Given the description of an element on the screen output the (x, y) to click on. 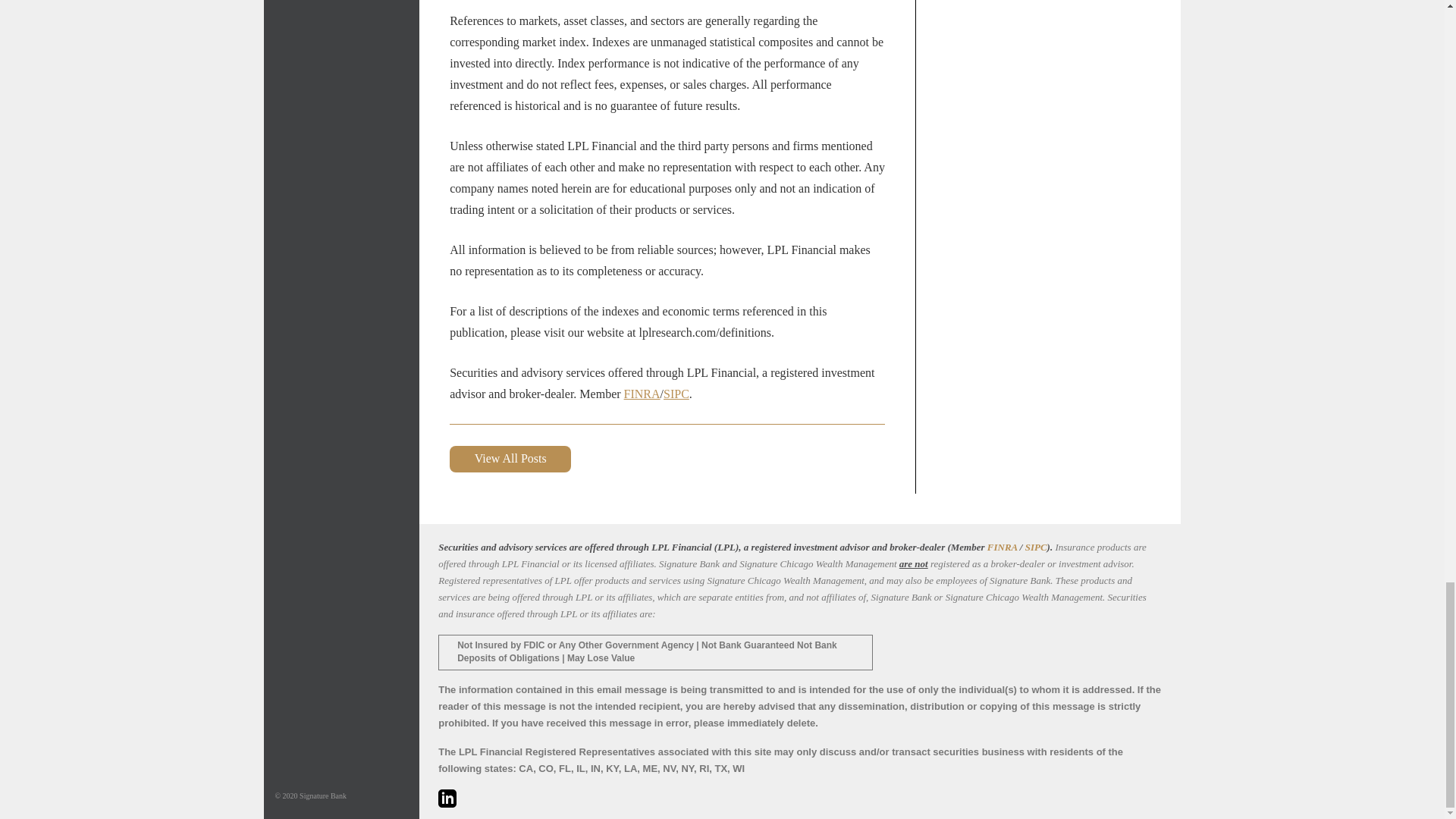
View All Posts (509, 458)
FINRA (1002, 546)
SIPC (1035, 546)
SIPC (675, 393)
FINRA (642, 393)
